Given the description of an element on the screen output the (x, y) to click on. 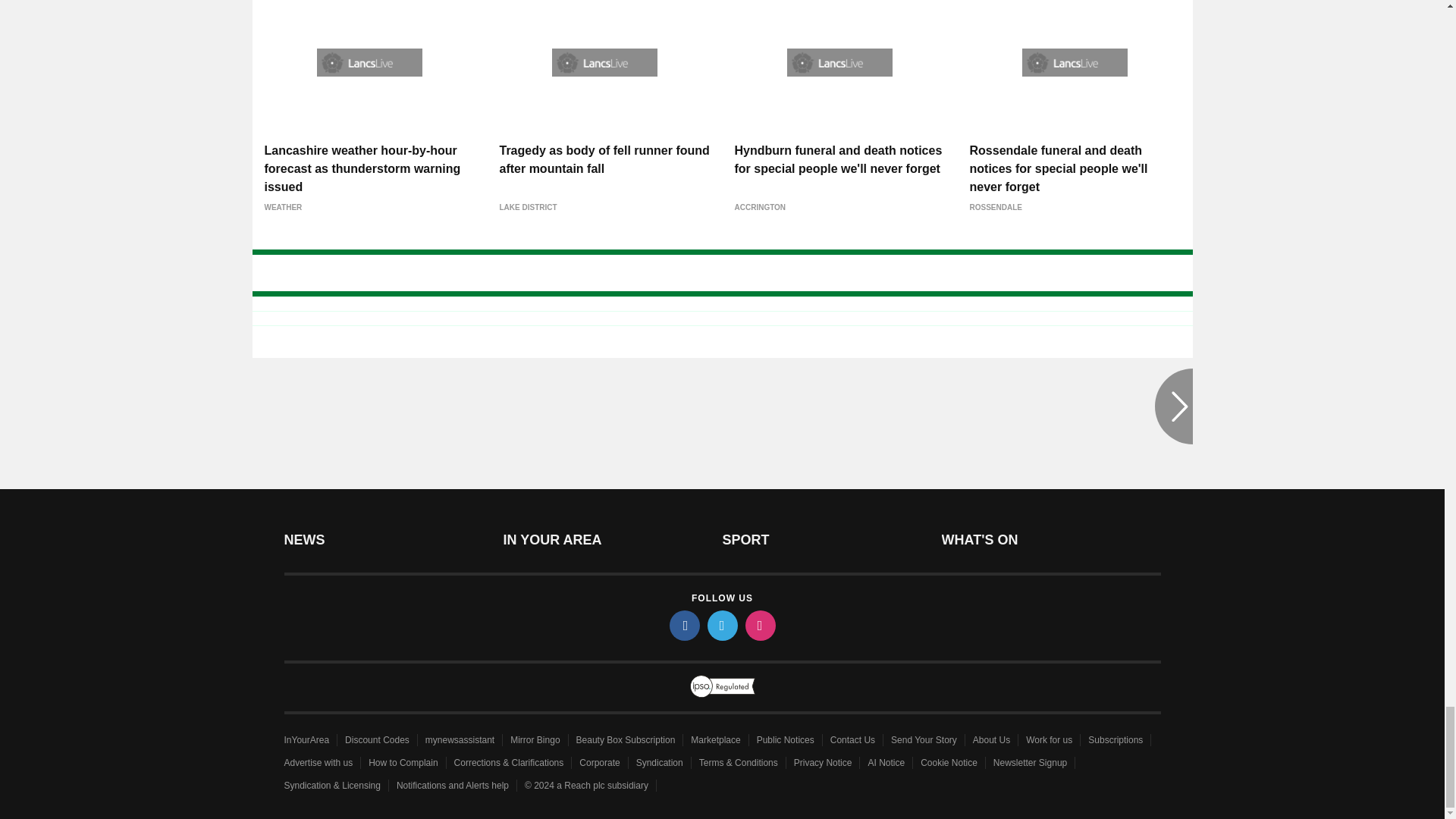
facebook (683, 625)
instagram (759, 625)
twitter (721, 625)
